Given the description of an element on the screen output the (x, y) to click on. 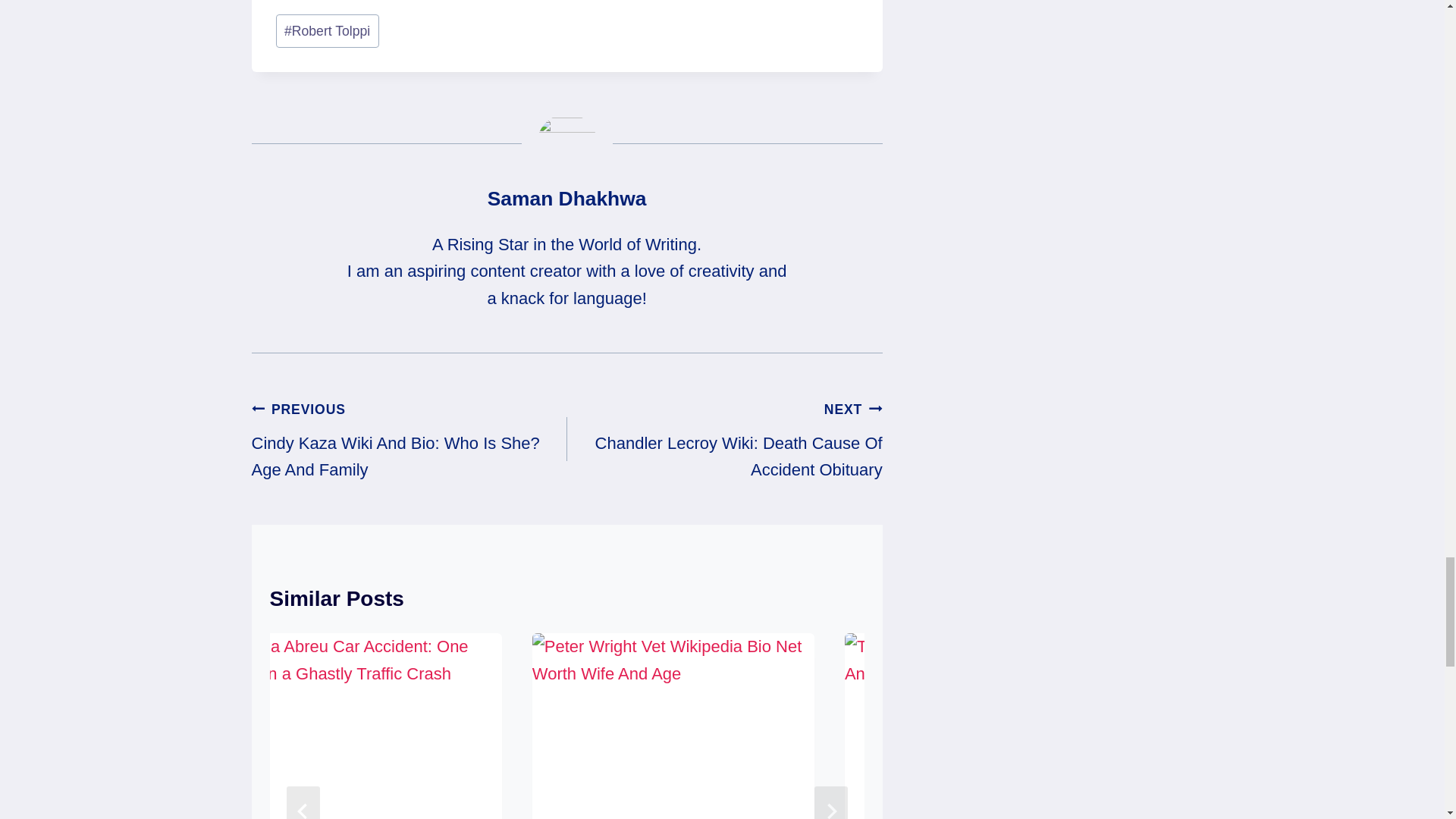
Robert Tolppi (327, 30)
Saman Dhakhwa (566, 198)
Posts by Saman Dhakhwa (566, 198)
